Given the description of an element on the screen output the (x, y) to click on. 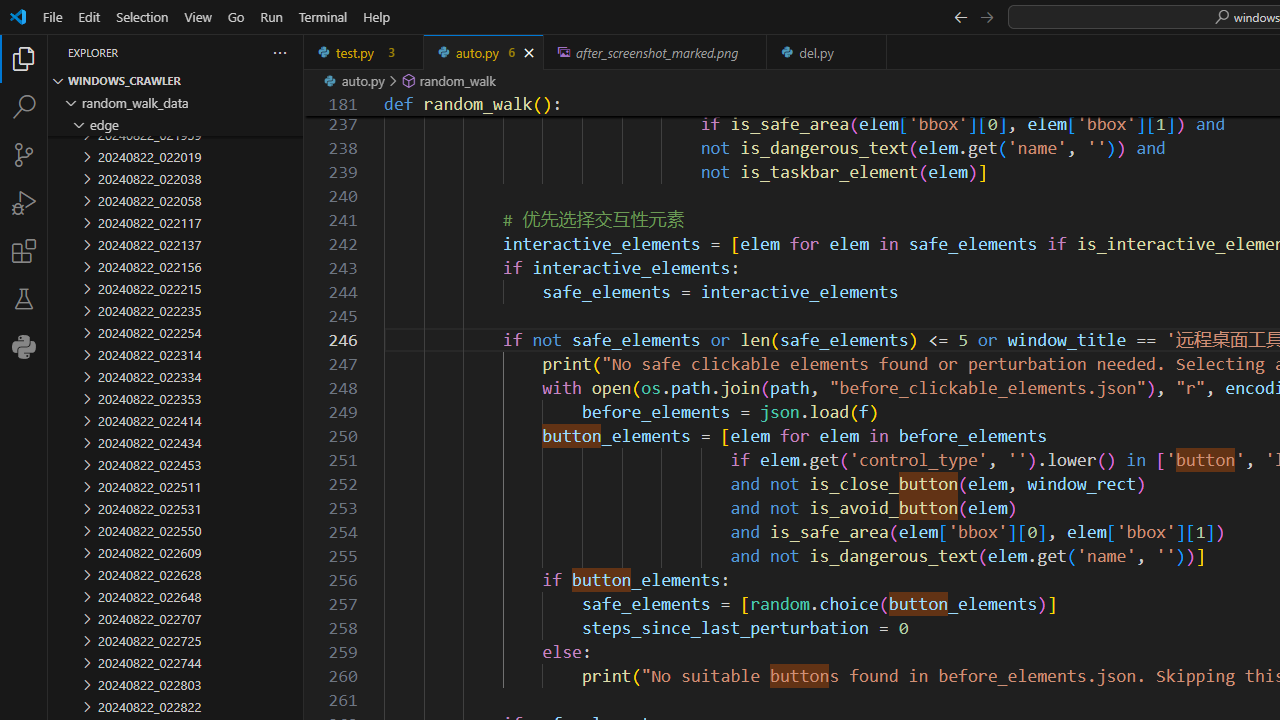
Python (24, 346)
Go (235, 16)
Edit (89, 16)
File (52, 16)
Help (376, 16)
auto.py (483, 52)
Run and Debug (Ctrl+Shift+D) (24, 202)
View (198, 16)
Close (Ctrl+F4) (872, 52)
del.py (827, 52)
Testing (24, 299)
Views and More Actions... (279, 52)
Terminal (322, 16)
after_screenshot_marked.png, preview (656, 52)
